Given the description of an element on the screen output the (x, y) to click on. 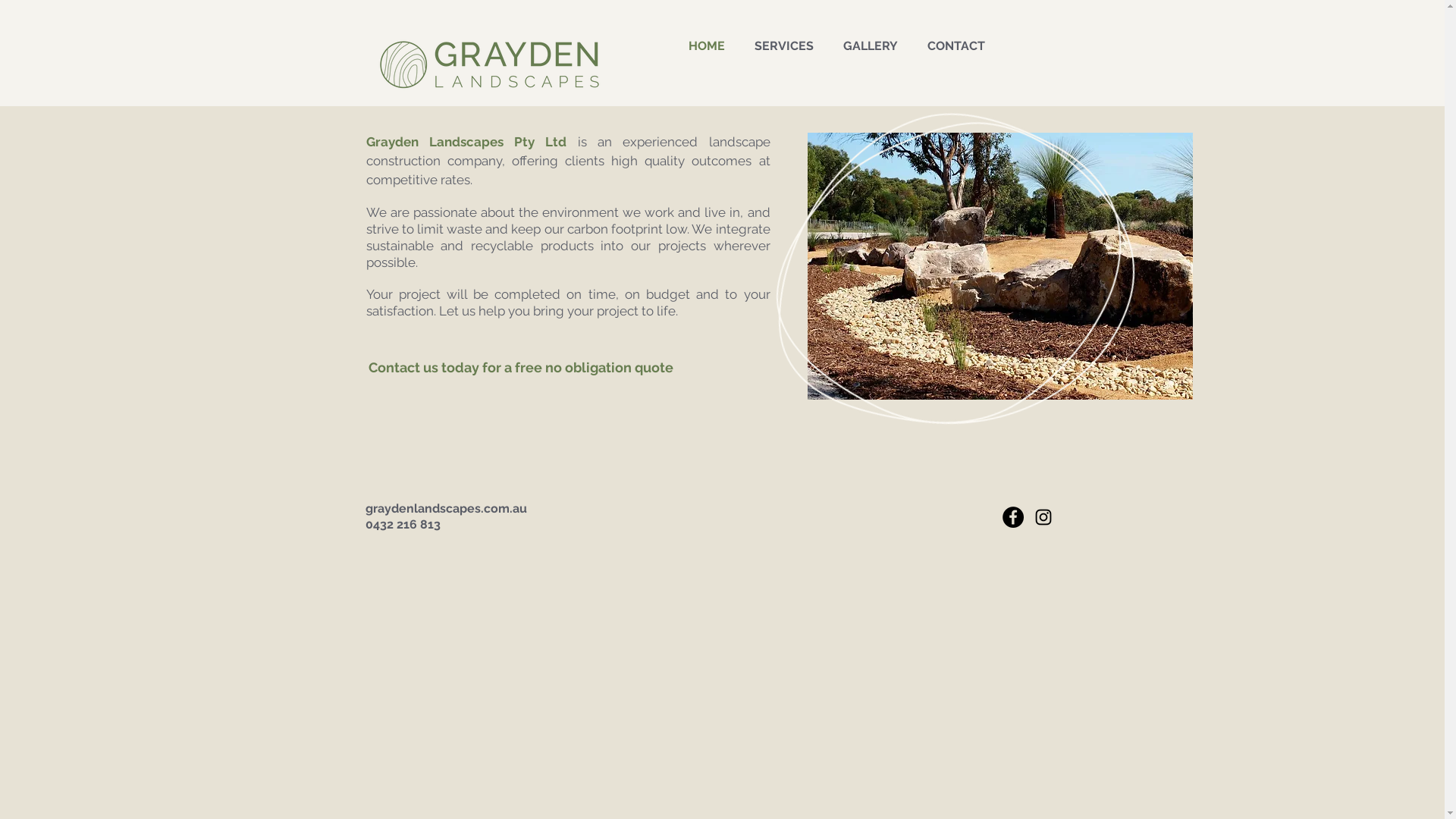
GALLERY Element type: text (873, 45)
SERVICES Element type: text (787, 45)
CONTACT Element type: text (959, 45)
Contact us today for a free no obligation quote Element type: text (520, 367)
graydenlandscapes.com.au Element type: text (446, 508)
HOME Element type: text (709, 45)
